Given the description of an element on the screen output the (x, y) to click on. 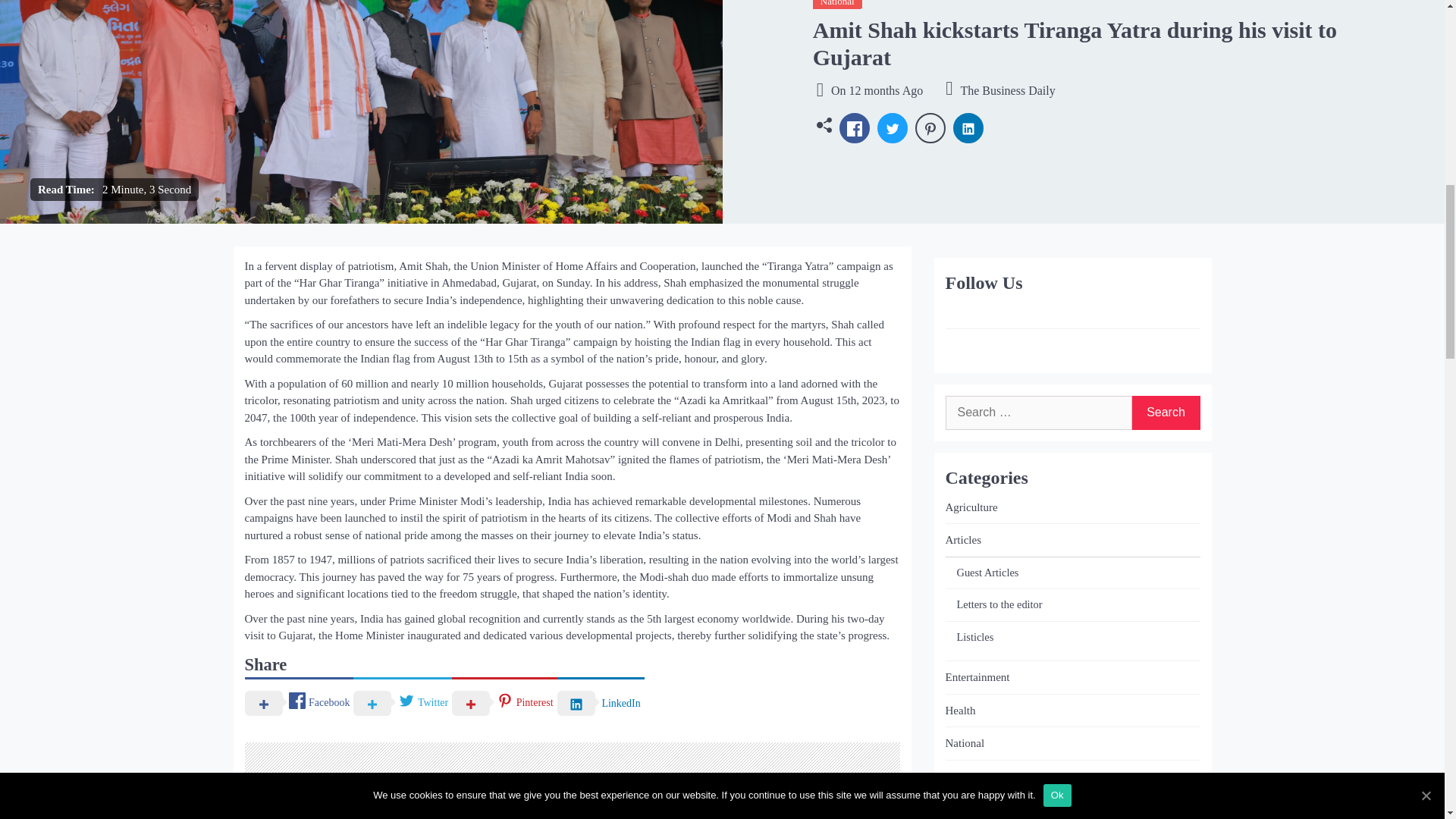
The Business Daily (1000, 90)
Twitter (402, 702)
12 months Ago (885, 90)
Search (1165, 412)
Search (1165, 412)
Facebook (298, 702)
National (836, 4)
